Given the description of an element on the screen output the (x, y) to click on. 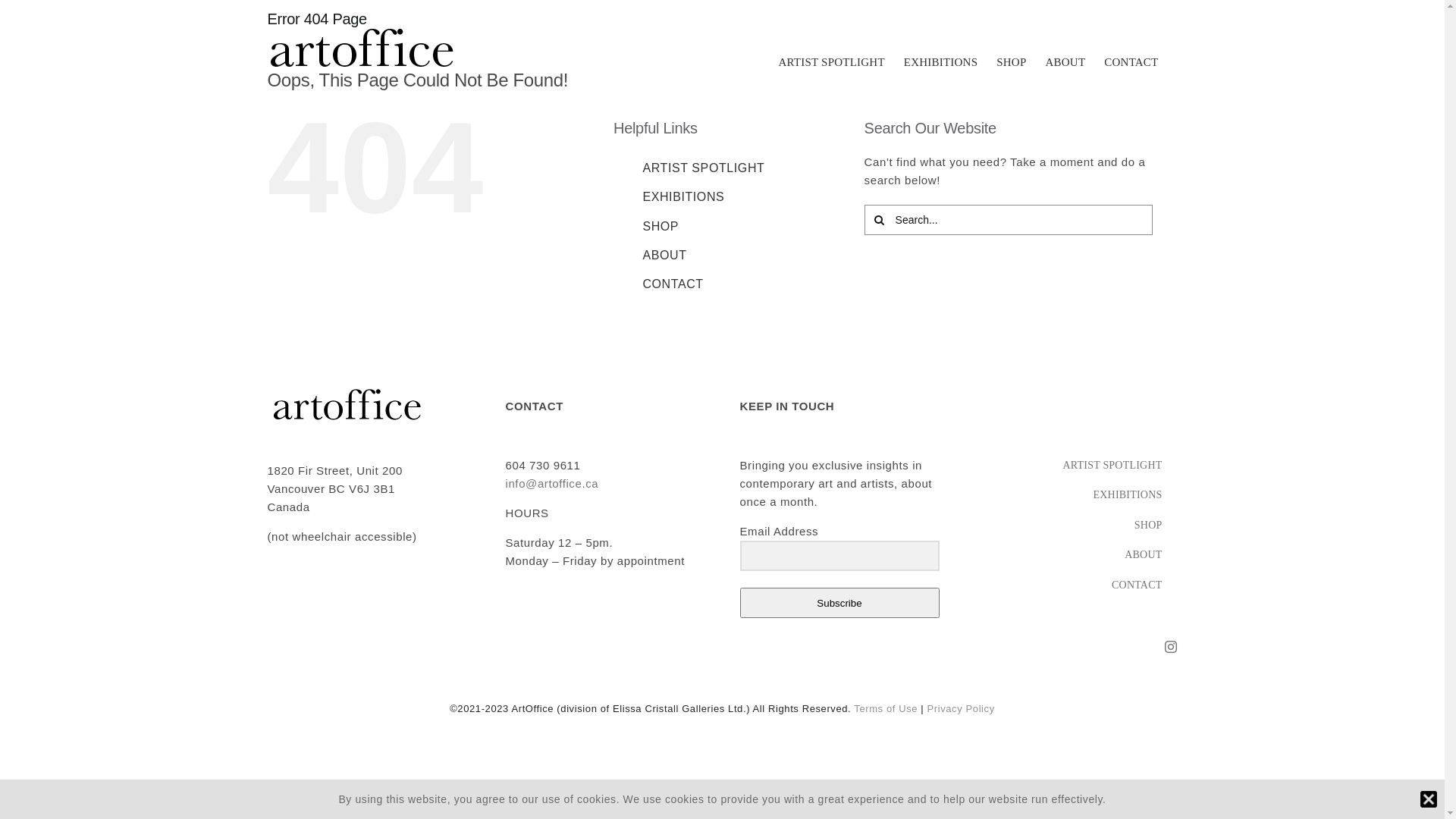
Subscribe Element type: text (839, 602)
info@artoffice.ca Element type: text (551, 482)
ABOUT Element type: text (1073, 555)
EXHIBITIONS Element type: text (940, 62)
Privacy Policy Element type: text (960, 708)
ARTIST SPOTLIGHT Element type: text (703, 167)
SHOP Element type: text (660, 225)
CONTACT Element type: text (1073, 585)
ABOUT Element type: text (664, 254)
CONTACT Element type: text (672, 283)
SHOP Element type: text (1073, 525)
EXHIBITIONS Element type: text (1073, 495)
Terms of Use Element type: text (885, 708)
ABOUT Element type: text (1064, 62)
ARTIST SPOTLIGHT Element type: text (1073, 465)
ARTIST SPOTLIGHT Element type: text (831, 62)
Instagram Element type: hover (1170, 646)
CONTACT Element type: text (1130, 62)
SHOP Element type: text (1011, 62)
EXHIBITIONS Element type: text (683, 196)
